Given the description of an element on the screen output the (x, y) to click on. 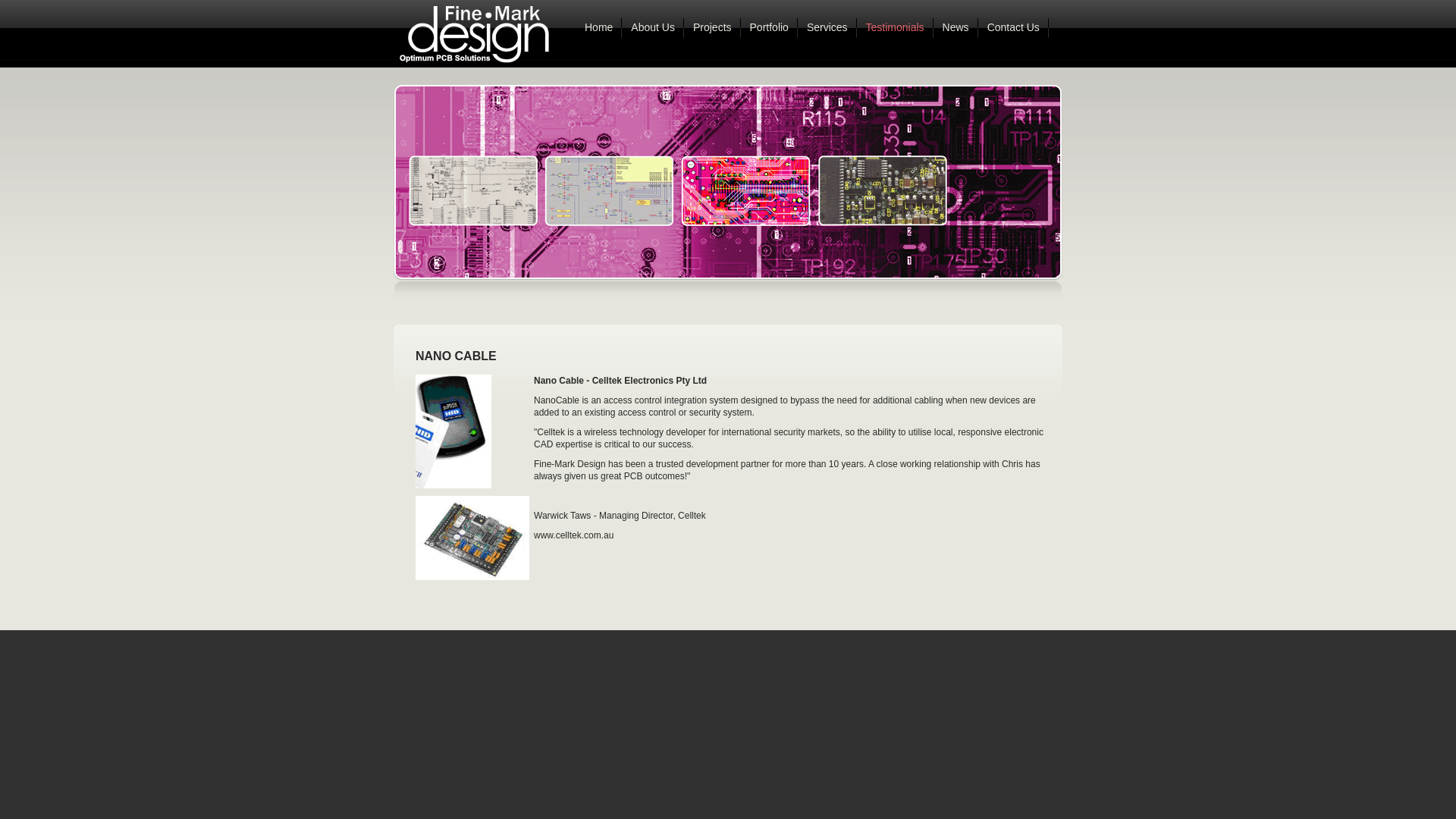
Testimonials Element type: text (894, 29)
News Element type: text (955, 29)
Projects Element type: text (712, 29)
Celltek2 Element type: hover (453, 431)
Home Element type: text (598, 29)
Portfolio Element type: text (768, 29)
Finemark Design Element type: hover (484, 31)
About Us Element type: text (652, 29)
Services Element type: text (826, 29)
Contact Us Element type: text (1013, 29)
www.celltek.com.au Element type: text (573, 535)
NANO CABLE Element type: text (455, 355)
Celltek3 Element type: hover (472, 537)
we will show you the way to success Element type: hover (727, 182)
